Given the description of an element on the screen output the (x, y) to click on. 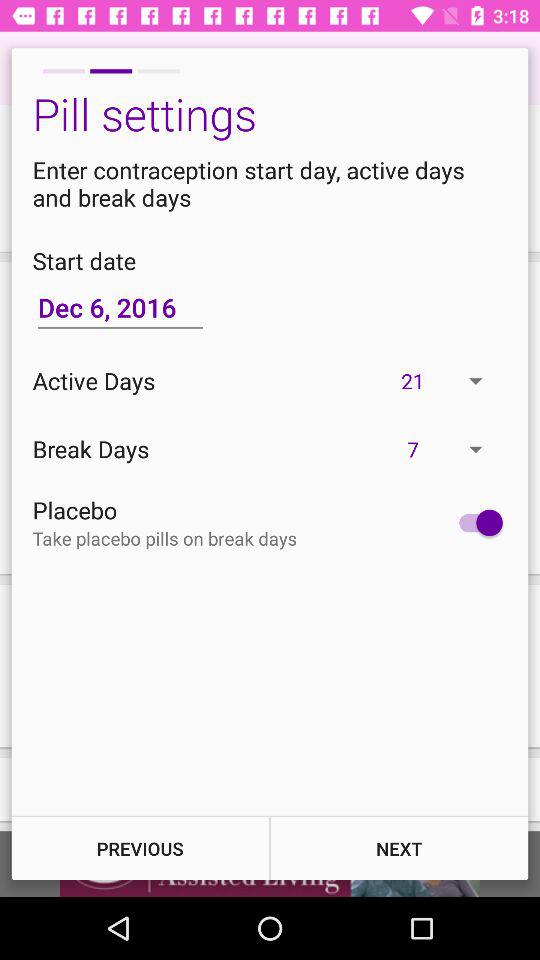
turn on (476, 522)
